Given the description of an element on the screen output the (x, y) to click on. 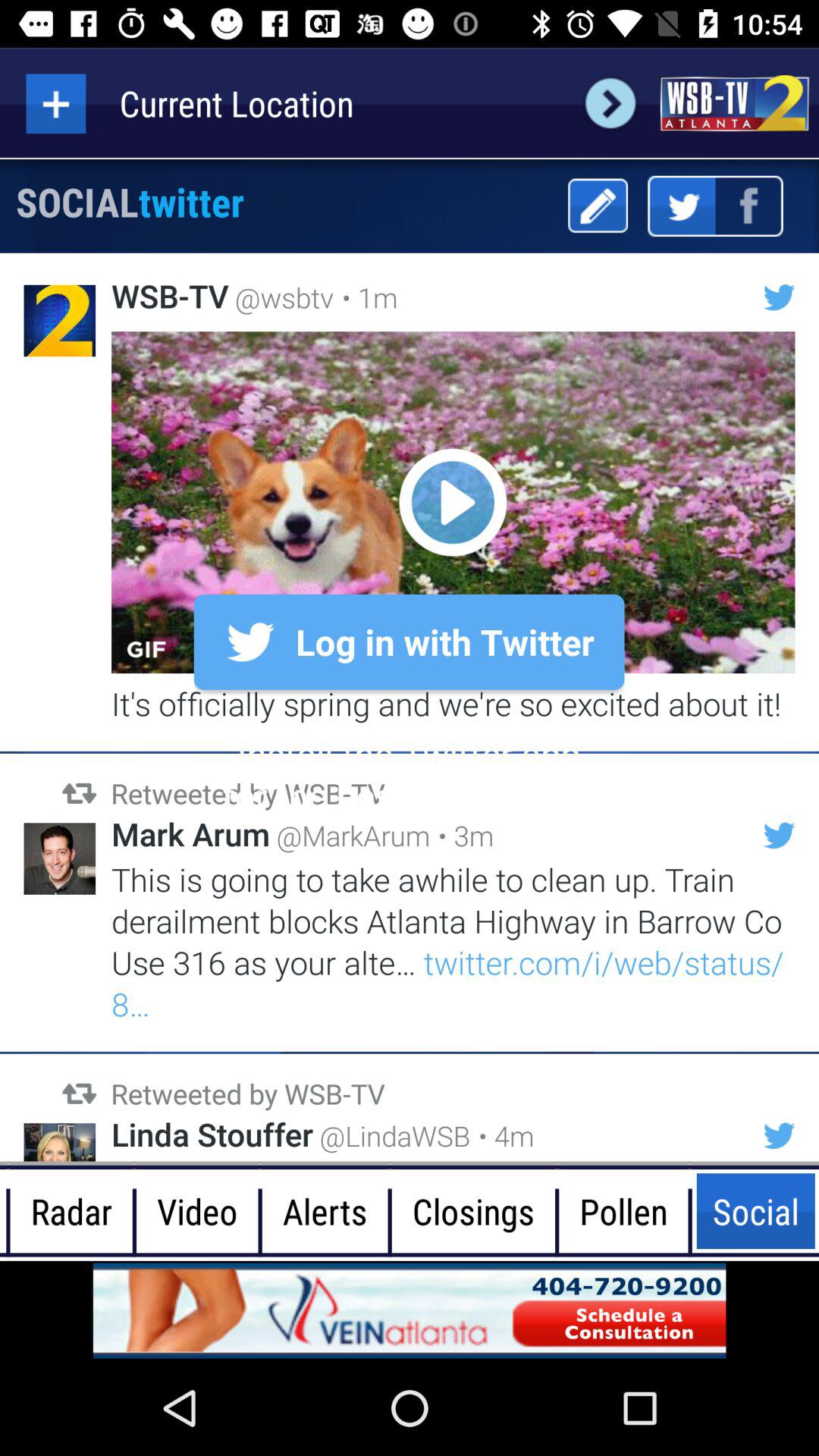
go to the advertisement page (409, 1310)
